Given the description of an element on the screen output the (x, y) to click on. 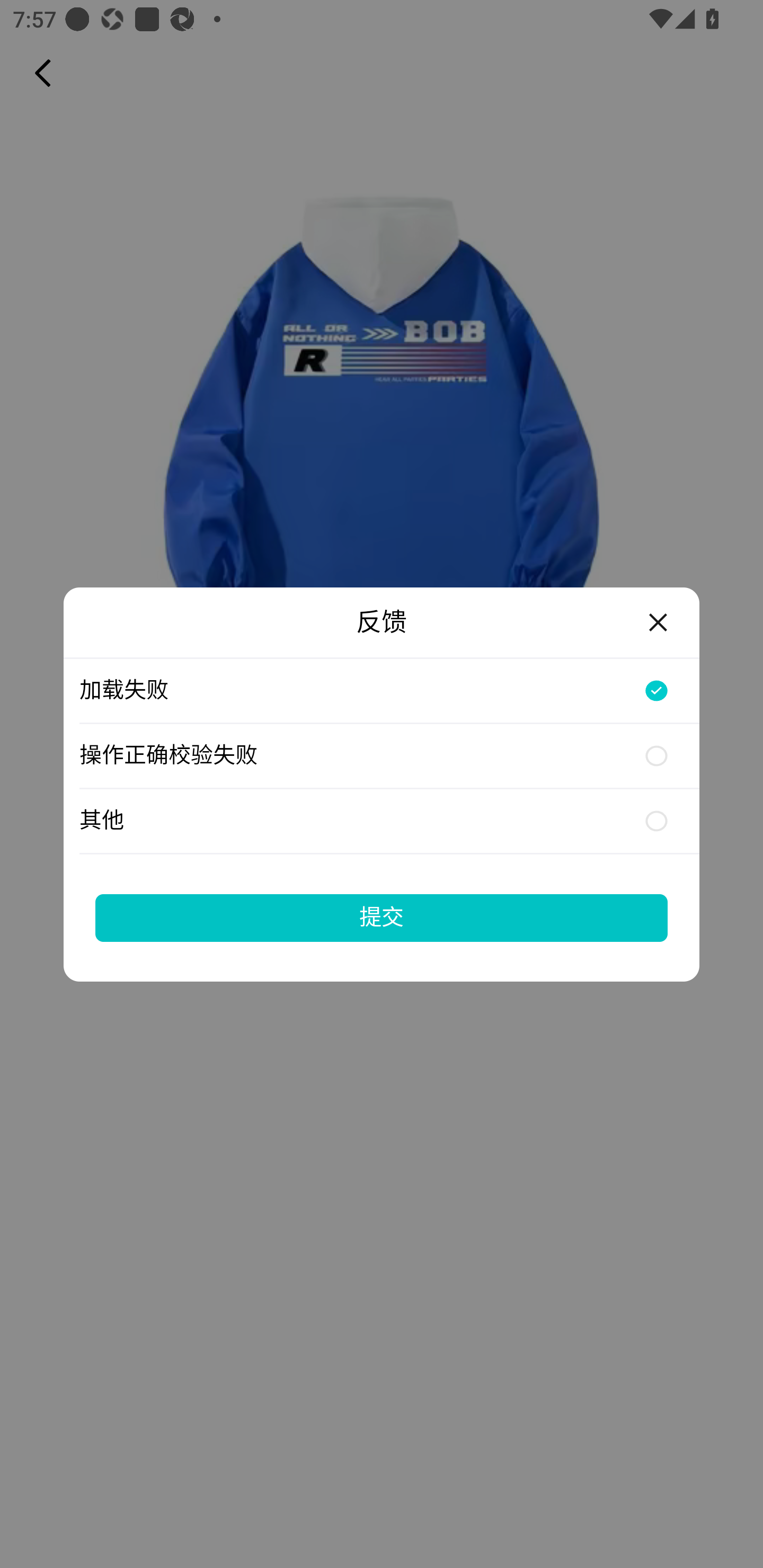
提交 (381, 917)
